Given the description of an element on the screen output the (x, y) to click on. 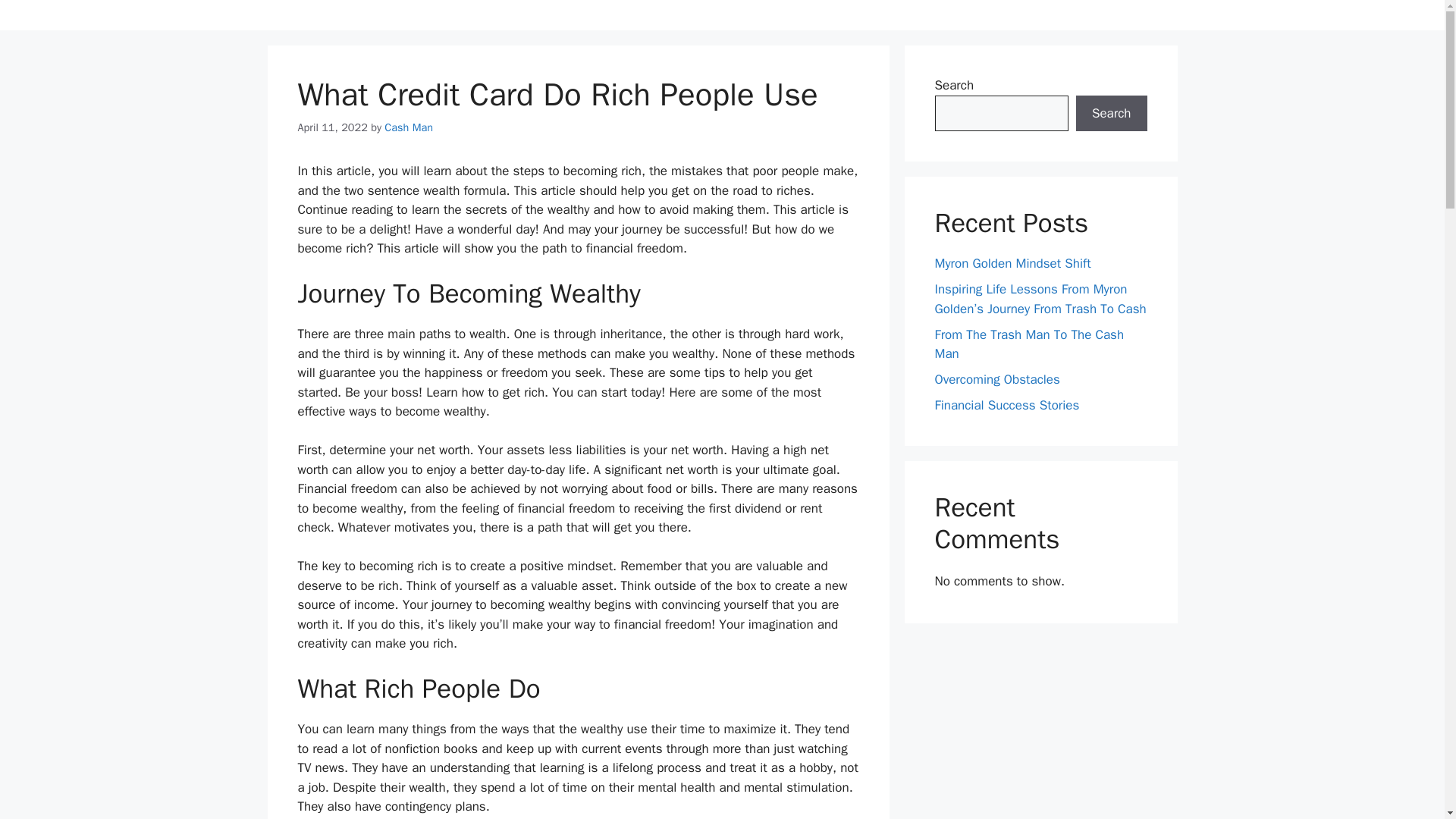
From The Trash Man To The Cash Man (1029, 343)
View all posts by Cash Man (408, 127)
Search (1111, 113)
Myron Golden Mindset Shift (1012, 263)
Cash Man (408, 127)
Overcoming Obstacles (996, 379)
Financial Success Stories (1006, 405)
